Given the description of an element on the screen output the (x, y) to click on. 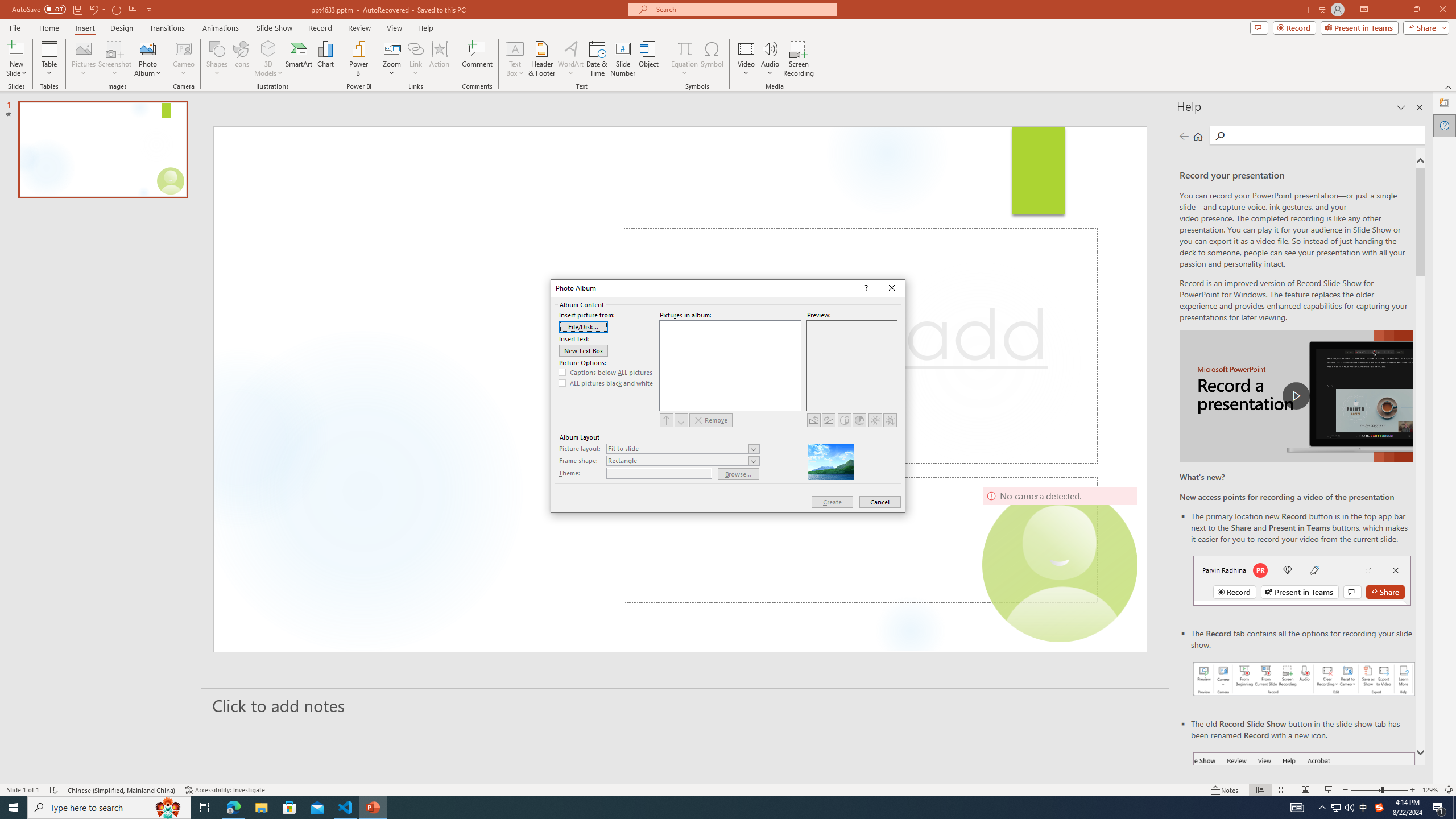
Comment (476, 58)
play Record a Presentation (1296, 395)
Screenshot (114, 58)
Show desktop (1454, 807)
3D Models (268, 58)
User Promoted Notification Area (1342, 807)
Open (753, 460)
Icons (240, 58)
Next Item (681, 419)
Chart... (325, 58)
Link (415, 48)
AutomationID: 4105 (1297, 807)
